Given the description of an element on the screen output the (x, y) to click on. 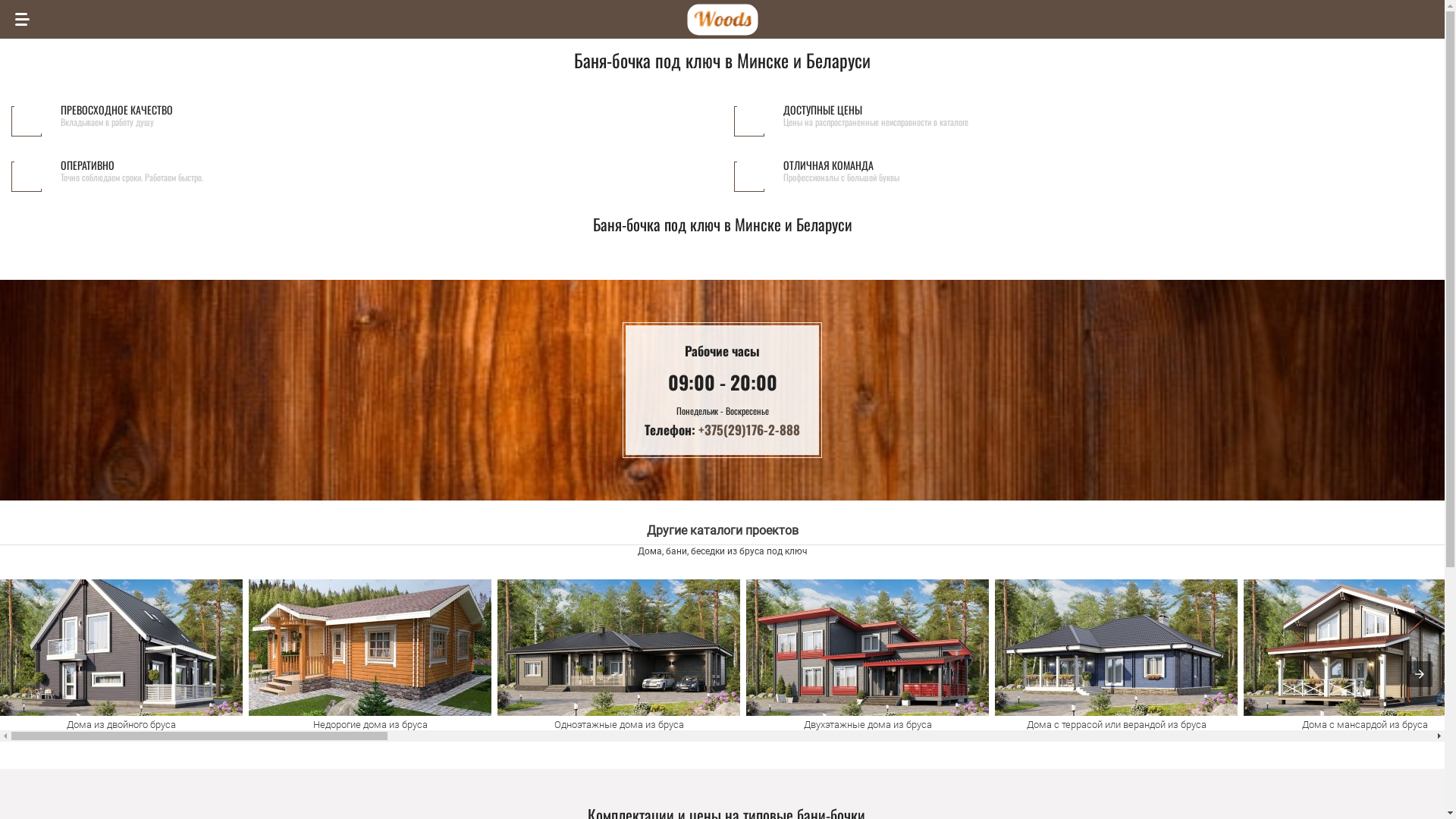
+375(29)176-2-888 Element type: text (749, 429)
Next item in carousel Element type: hover (1419, 674)
Previous item in carousel Element type: hover (12, 674)
